Given the description of an element on the screen output the (x, y) to click on. 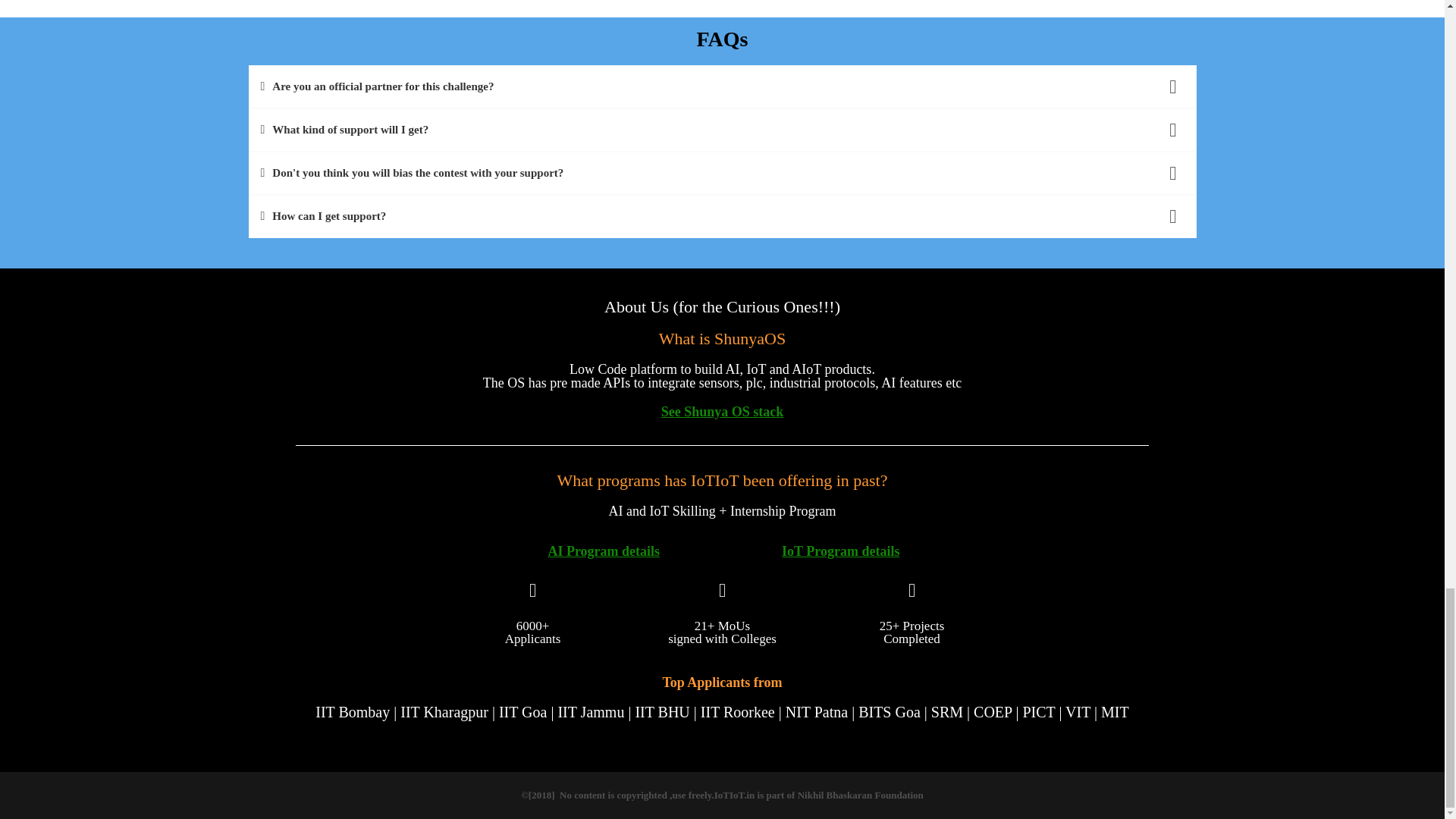
See Shunya OS stack (722, 411)
What programs has IoTIoT been offering in past? (721, 479)
What is ShunyaOS (722, 338)
IoT Program details (840, 550)
AI Program details (603, 550)
